Given the description of an element on the screen output the (x, y) to click on. 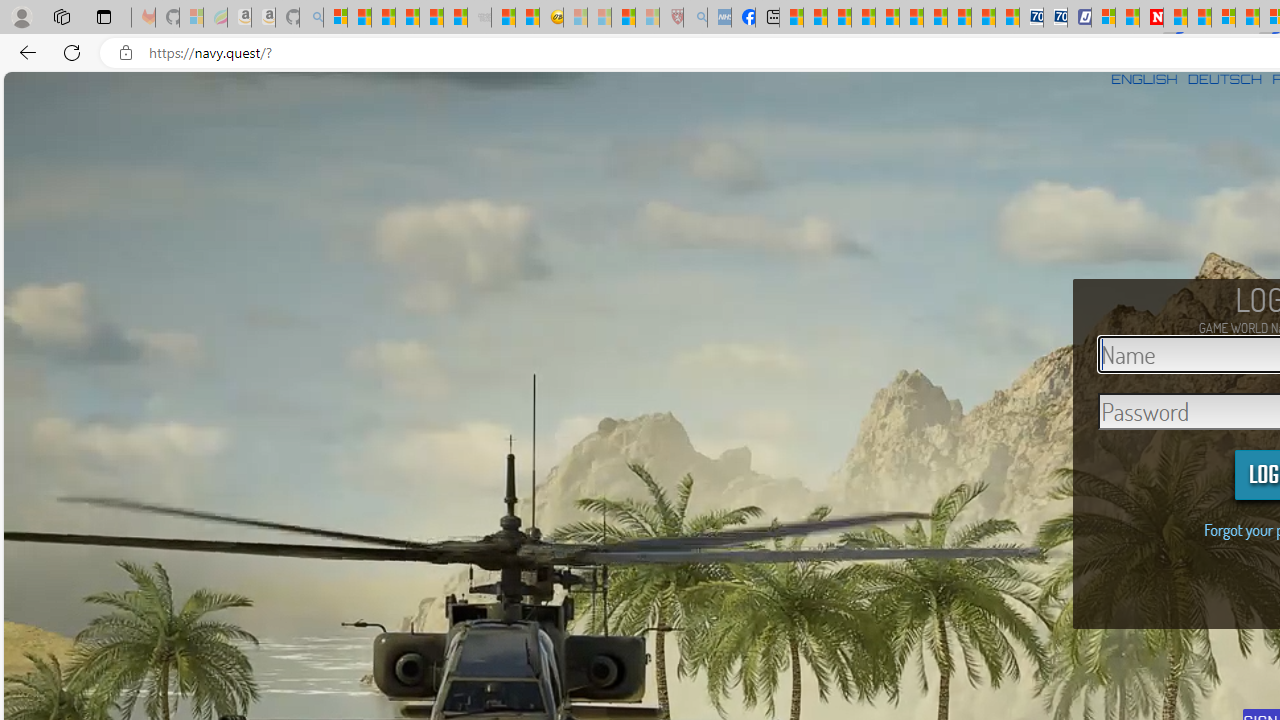
12 Popular Science Lies that Must be Corrected - Sleeping (647, 17)
Combat Siege - Sleeping (479, 17)
